Given the description of an element on the screen output the (x, y) to click on. 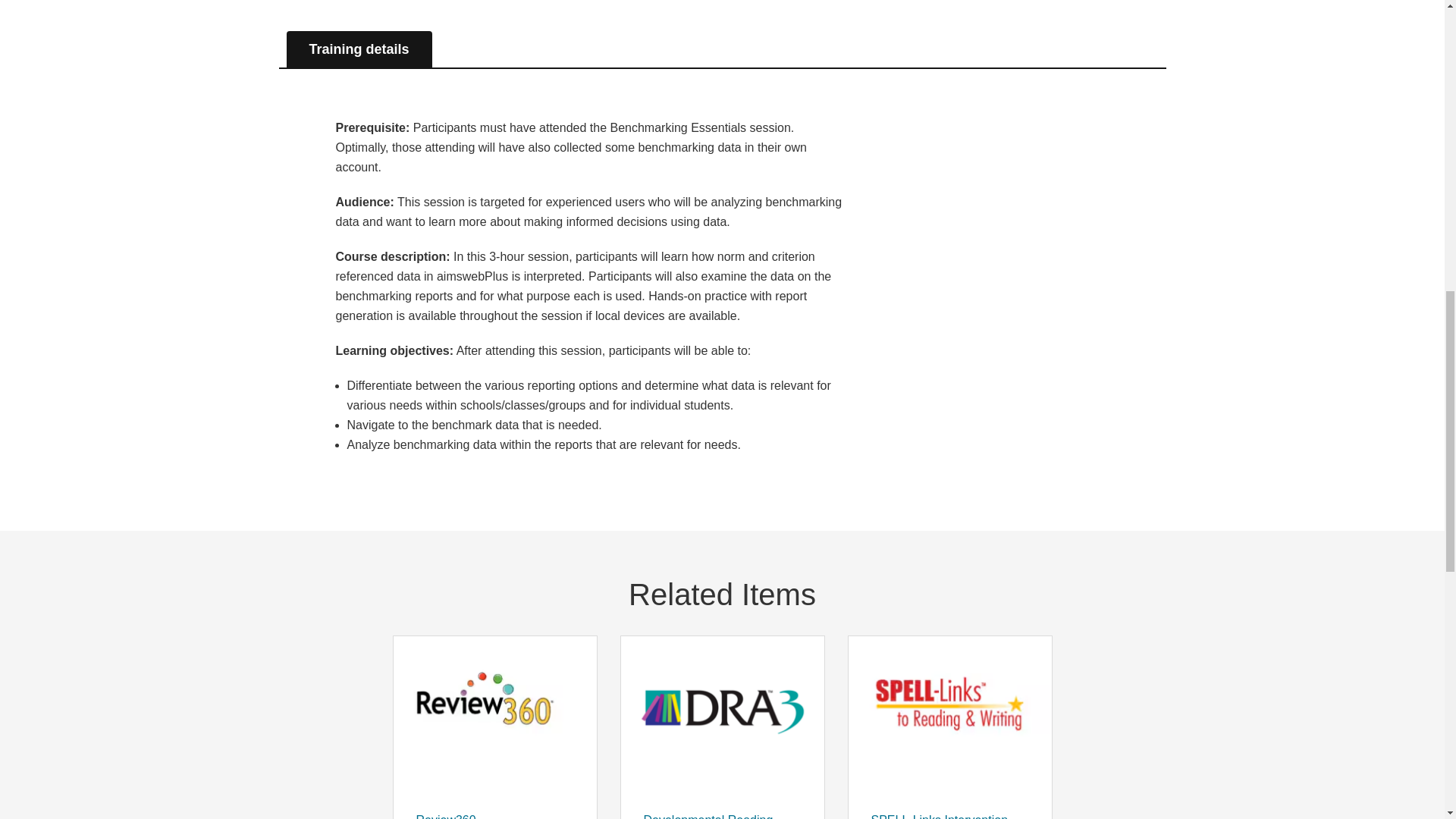
DRA3 logo (722, 711)
SPELL-Links Intervention and Training Products (949, 711)
Review360 (494, 711)
